Given the description of an element on the screen output the (x, y) to click on. 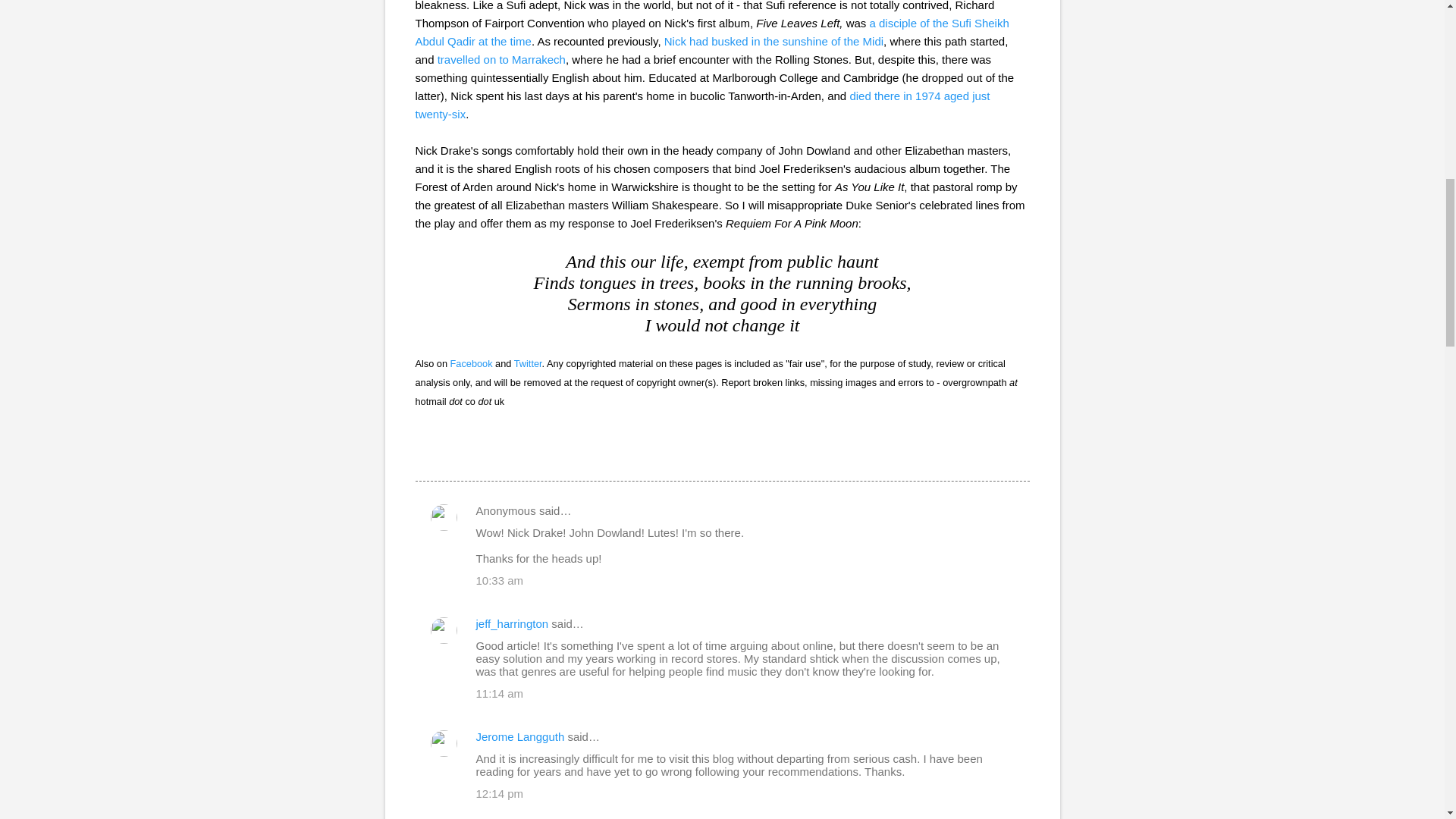
comment permalink (500, 580)
travelled on to Marrakech (502, 59)
Facebook (471, 363)
Email Post (423, 453)
Jerome Langguth (520, 736)
Twitter (527, 363)
died there in 1974 aged just twenty-six (702, 104)
Nick had busked in the sunshine of the Midi (773, 41)
12:14 pm (500, 793)
a disciple of the Sufi Sheikh Abdul Qadir at the time (711, 31)
10:33 am (500, 580)
11:14 am (500, 693)
